Given the description of an element on the screen output the (x, y) to click on. 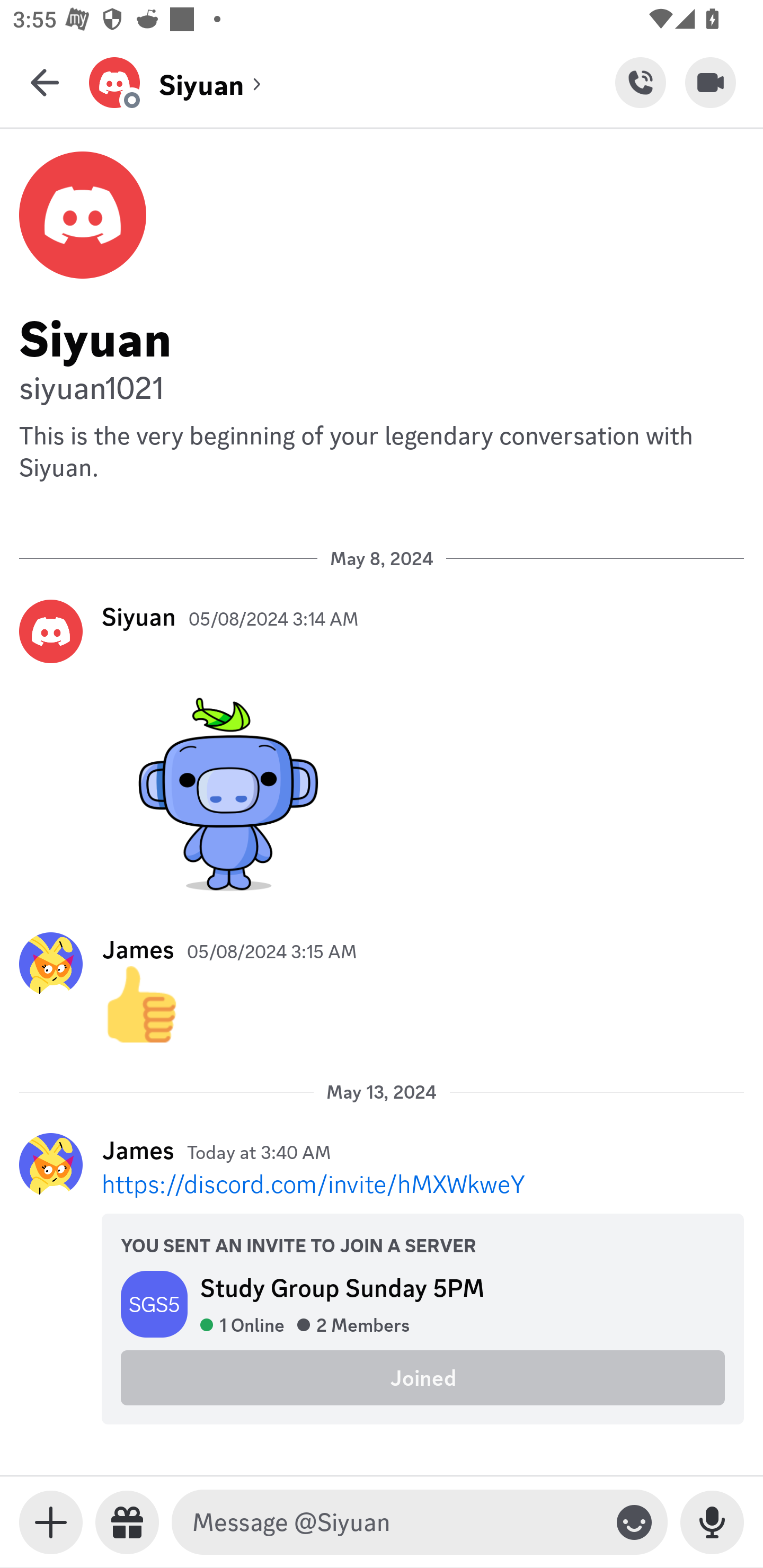
Siyuan (channel) Siyuan Siyuan (channel) (351, 82)
Back (44, 82)
Start Voice Call (640, 82)
Start Video Call (710, 82)
Siyuan (381, 335)
siyuan1021 (381, 386)
Siyuan 05/08/2024 3:14 AM (381, 749)
Siyuan (138, 615)
James (137, 948)
James (137, 1149)
Joined (422, 1377)
Toggle media keyboard (50, 1522)
Send a gift (126, 1522)
Record Voice Message (711, 1522)
Message @Siyuan (395, 1522)
Toggle emoji keyboard (634, 1522)
